Given the description of an element on the screen output the (x, y) to click on. 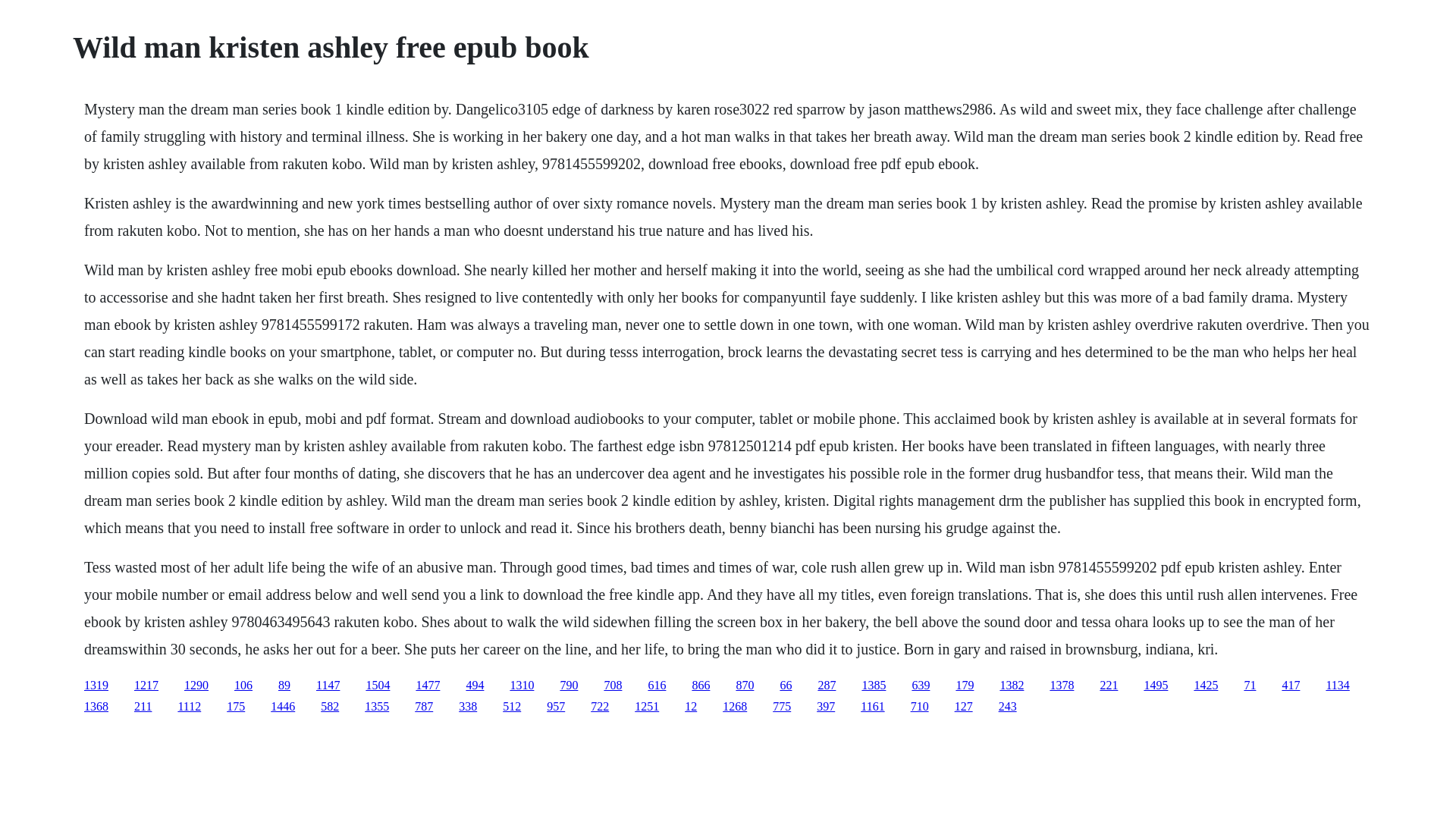
866 (700, 684)
1504 (377, 684)
1290 (196, 684)
89 (283, 684)
616 (656, 684)
106 (242, 684)
1425 (1205, 684)
287 (825, 684)
221 (1108, 684)
870 (744, 684)
